Given the description of an element on the screen output the (x, y) to click on. 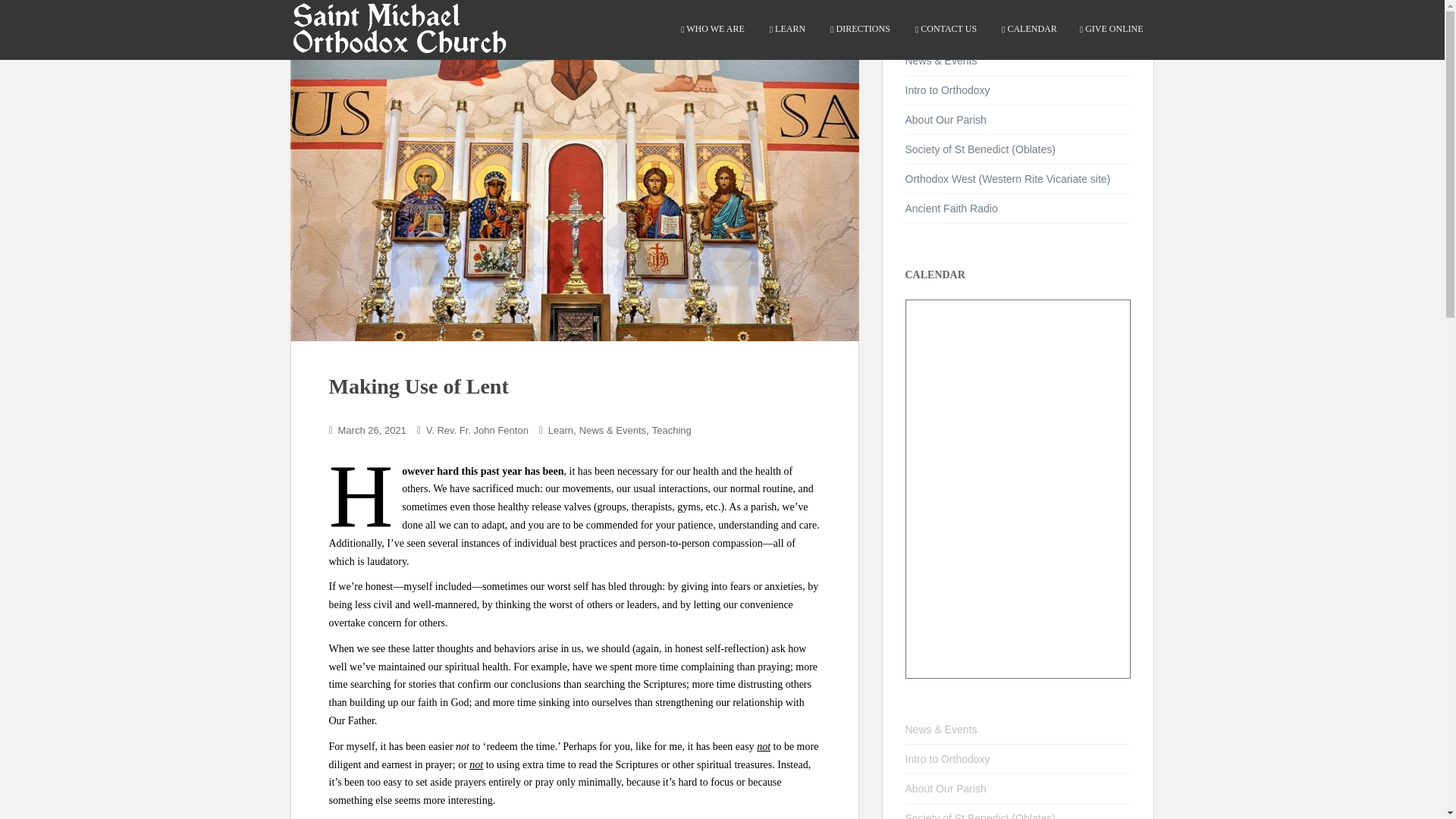
i (947, 90)
Teaching (671, 430)
Directions (858, 28)
 GIVE ONLINE (1111, 28)
  CALENDAR (1028, 28)
  DIRECTIONS (858, 28)
Intro to Orthodoxy (947, 758)
March 26, 2021 (371, 430)
Ancient Faith Radio (951, 208)
  CONTACT US (944, 28)
Calendar (1028, 28)
Who we are (710, 28)
  WHO WE ARE (710, 28)
i (947, 758)
About Our Parish (946, 119)
